Given the description of an element on the screen output the (x, y) to click on. 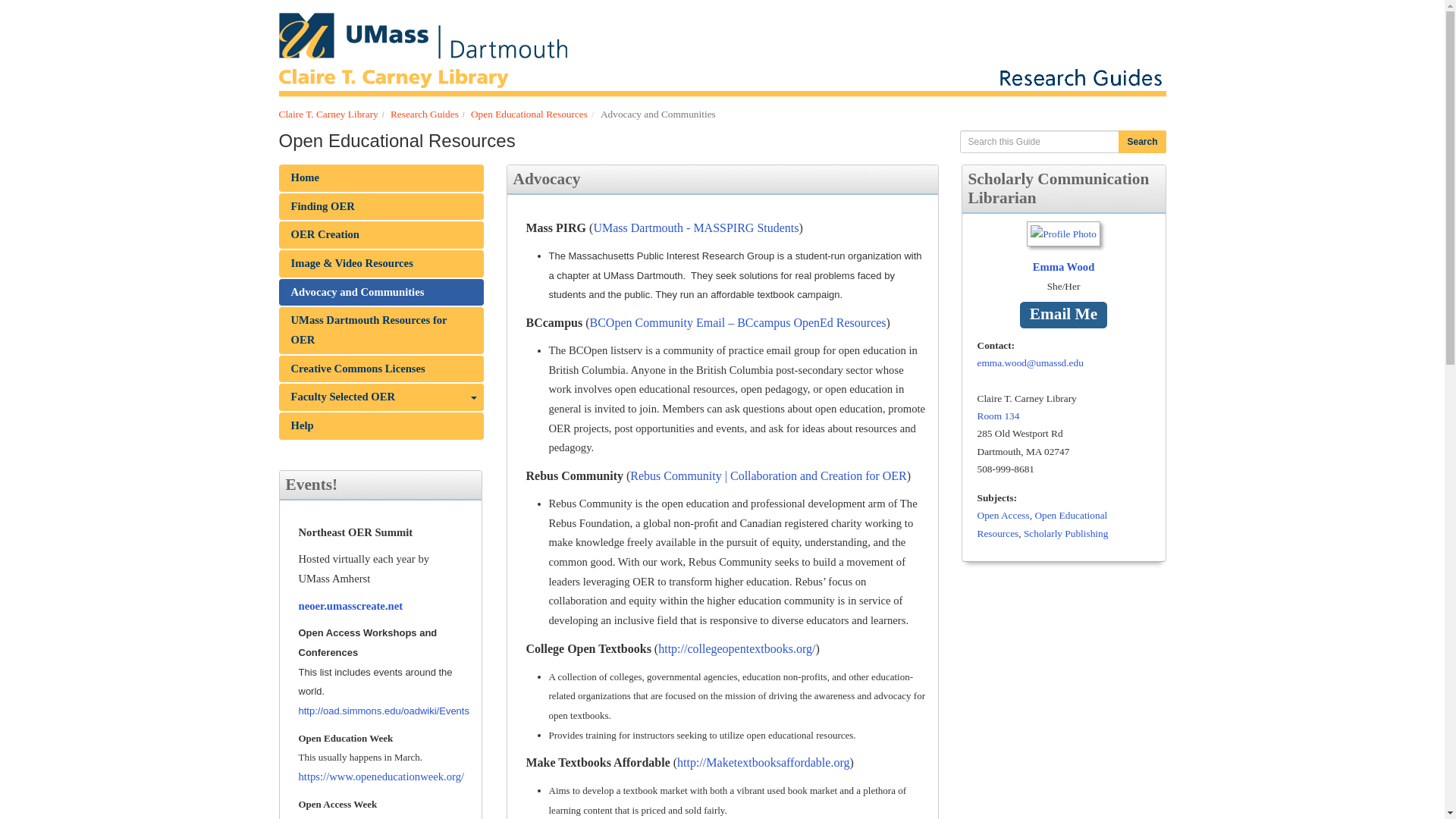
Help (381, 425)
Research Guides (424, 113)
Claire T. Carney Library (328, 113)
Faculty Selected OER (381, 397)
Creative Commons Licenses (381, 369)
UMass Dartmouth Resources for OER (381, 329)
Search (1142, 141)
neoer.umasscreate.net (350, 605)
UMass Dartmouth - MASSPIRG Students (694, 227)
Home (381, 177)
